Given the description of an element on the screen output the (x, y) to click on. 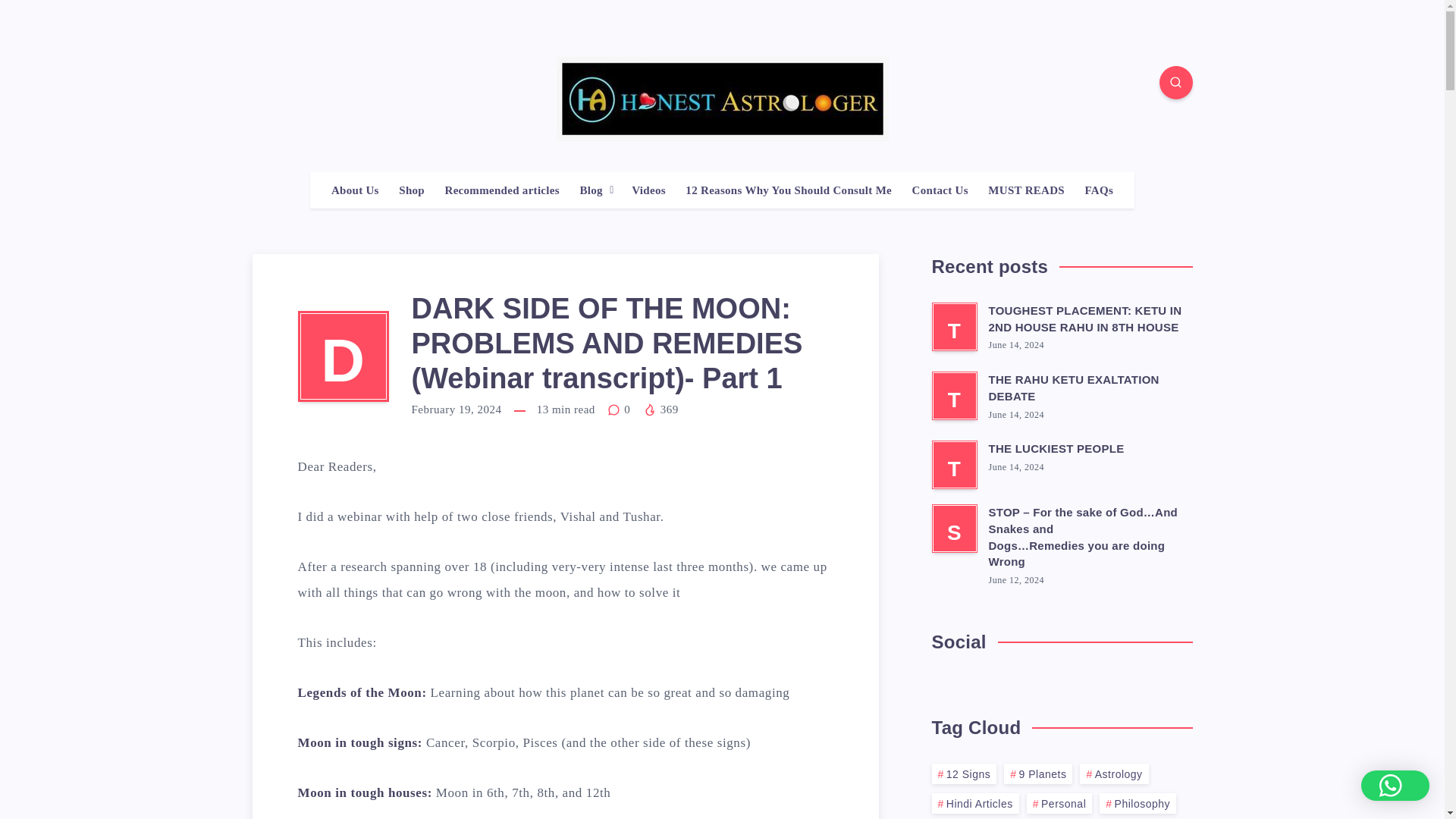
FAQs (1098, 190)
About Us (354, 190)
MUST READS (1026, 190)
Shop (411, 190)
12 Reasons Why You Should Consult Me (788, 190)
Videos (648, 190)
0 Comments (620, 409)
Contact Us (940, 190)
Recommended articles (501, 190)
Blog (590, 190)
369 Views (660, 409)
